Given the description of an element on the screen output the (x, y) to click on. 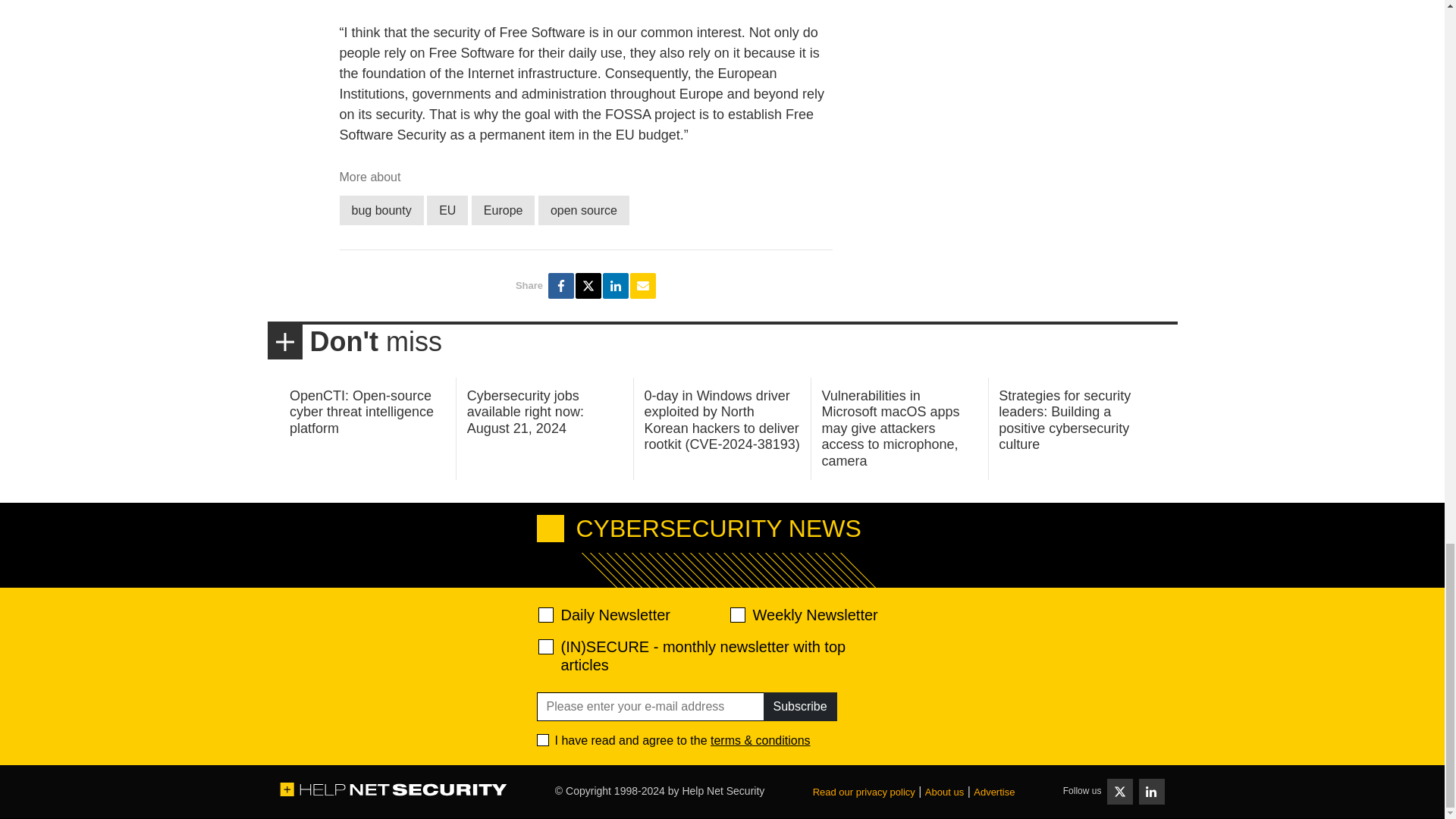
1 (542, 739)
Europe (503, 210)
EU (446, 210)
d2d471aafa (736, 614)
open source (583, 210)
bug bounty (381, 210)
520ac2f639 (545, 614)
Europe (503, 210)
